Given the description of an element on the screen output the (x, y) to click on. 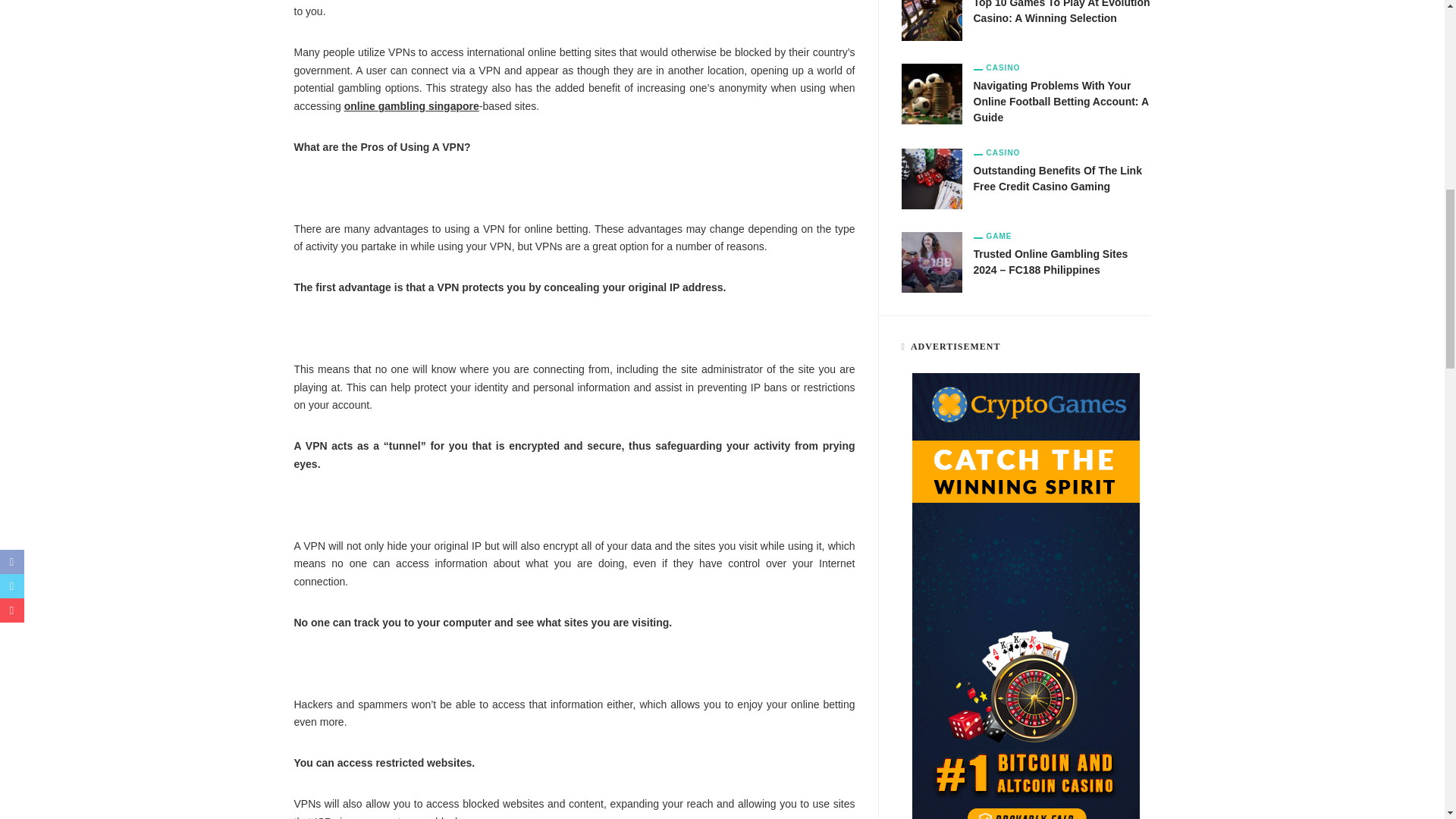
online gambling singapore (411, 105)
